Given the description of an element on the screen output the (x, y) to click on. 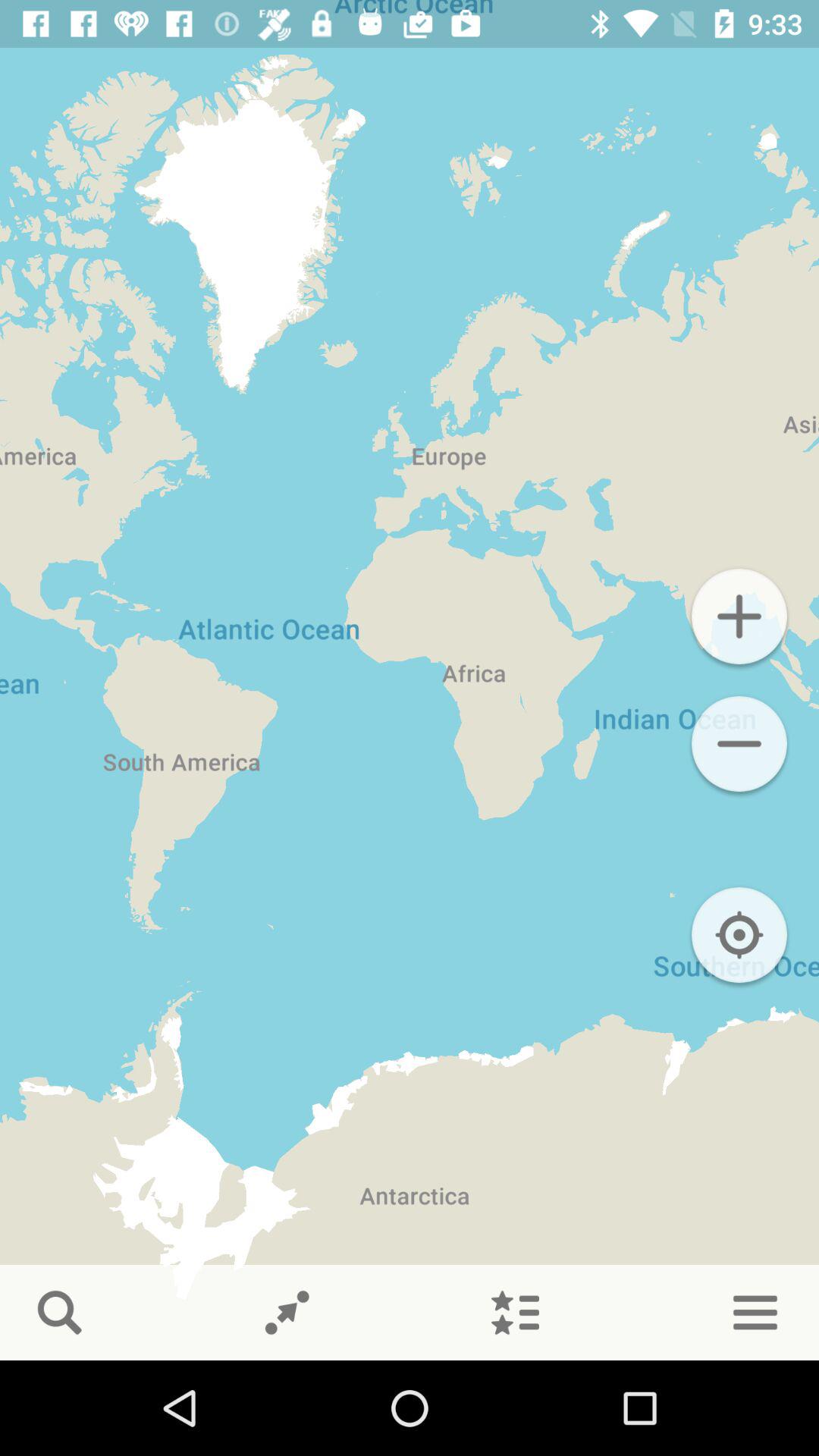
favorites list (515, 1312)
